Given the description of an element on the screen output the (x, y) to click on. 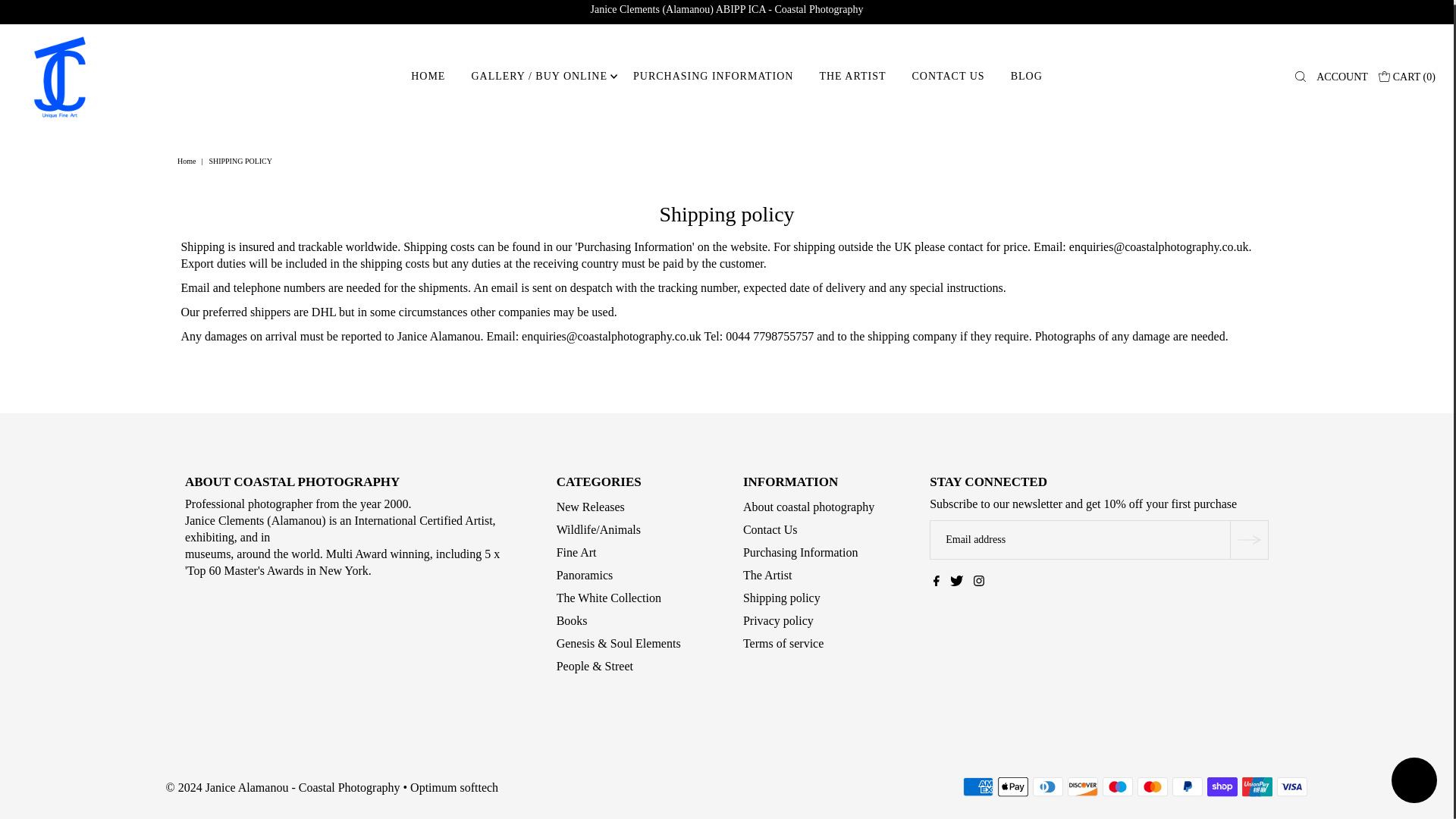
Discover (1082, 786)
THE ARTIST (852, 76)
Union Pay (1256, 786)
Shopify online store chat (1414, 777)
Shop Pay (1222, 786)
American Express (977, 786)
CONTACT US (948, 76)
Home (188, 161)
HOME (427, 76)
Apple Pay (1012, 786)
